Given the description of an element on the screen output the (x, y) to click on. 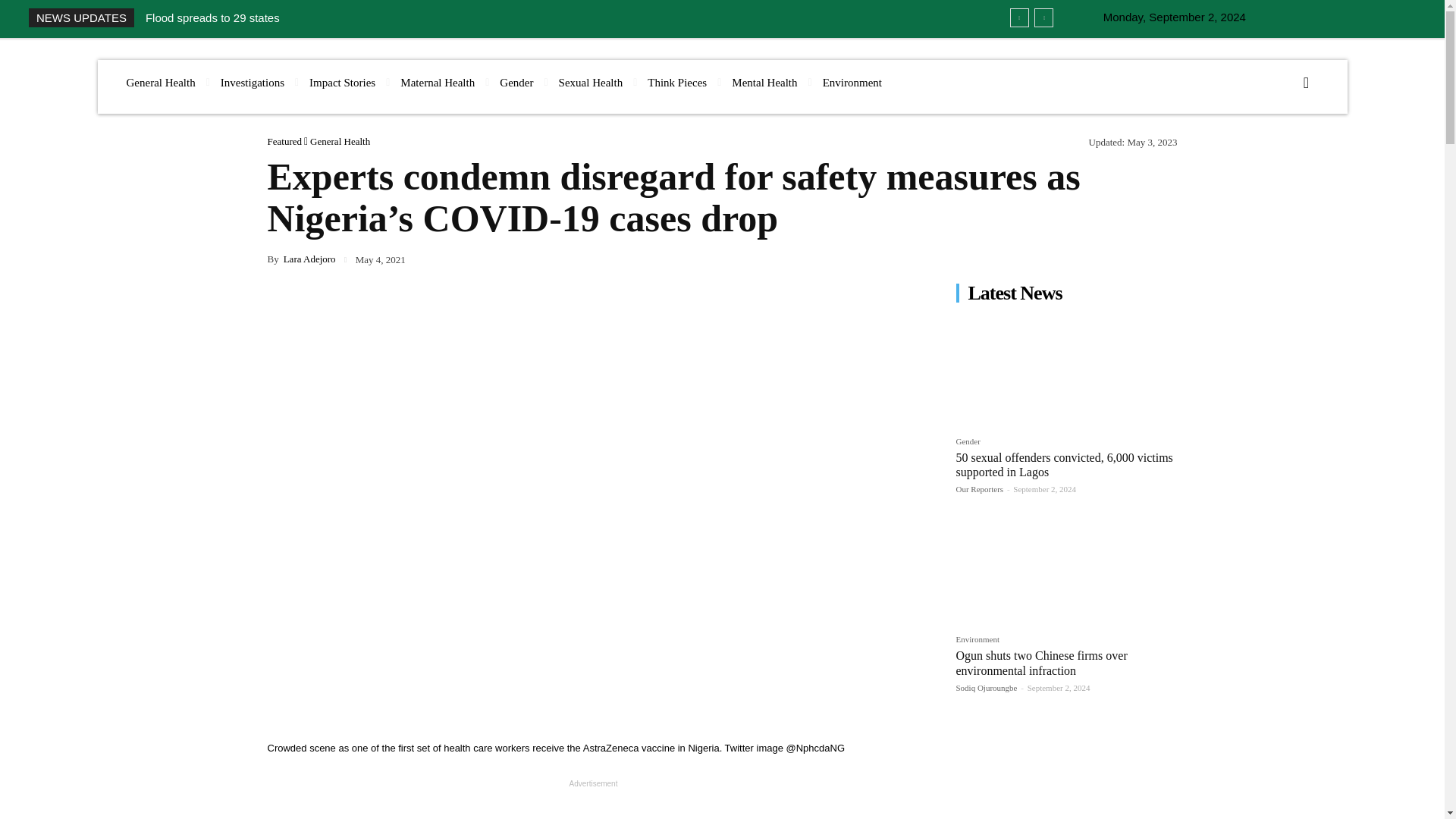
General Health (160, 82)
Investigations (252, 82)
Flood spreads to 29 states (212, 17)
Flood spreads to 29 states (212, 17)
